Given the description of an element on the screen output the (x, y) to click on. 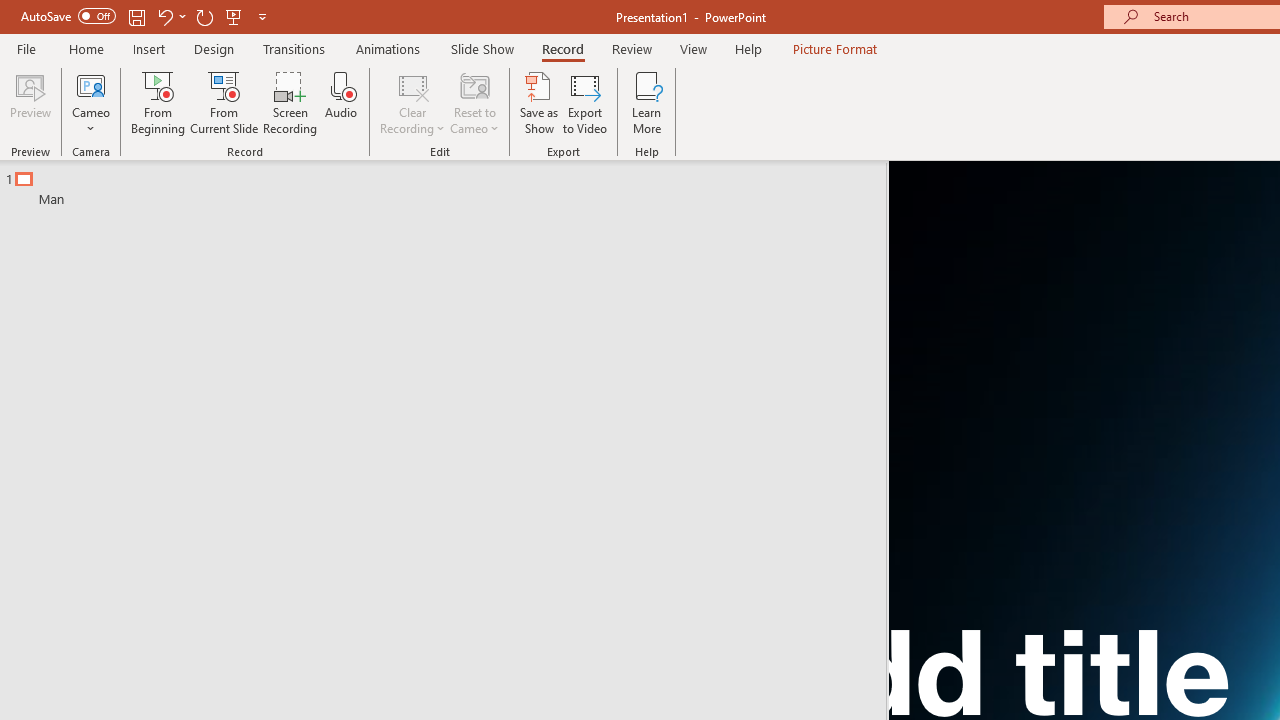
Picture Format (834, 48)
From Current Slide... (224, 102)
From Beginning... (158, 102)
Outline (452, 184)
